Given the description of an element on the screen output the (x, y) to click on. 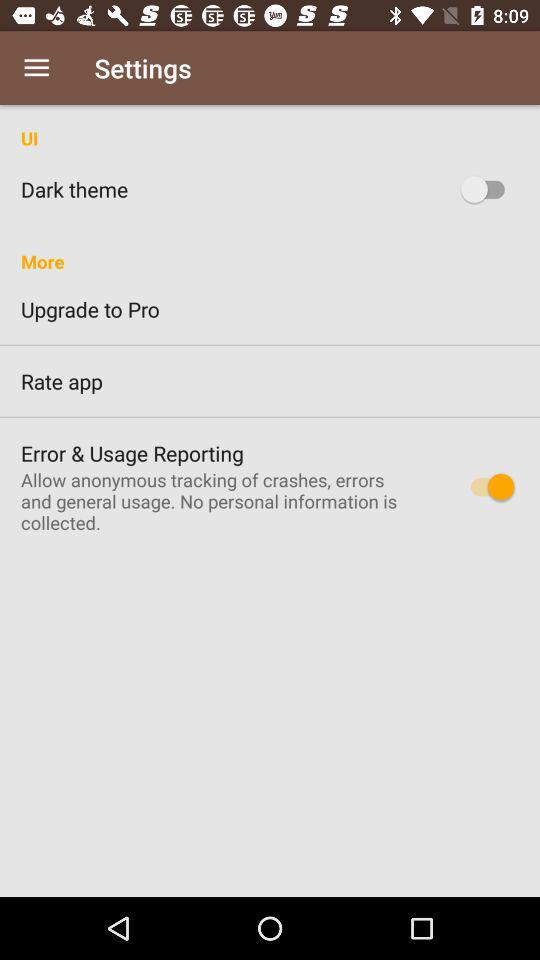
toggle error usage reporting (487, 486)
